Given the description of an element on the screen output the (x, y) to click on. 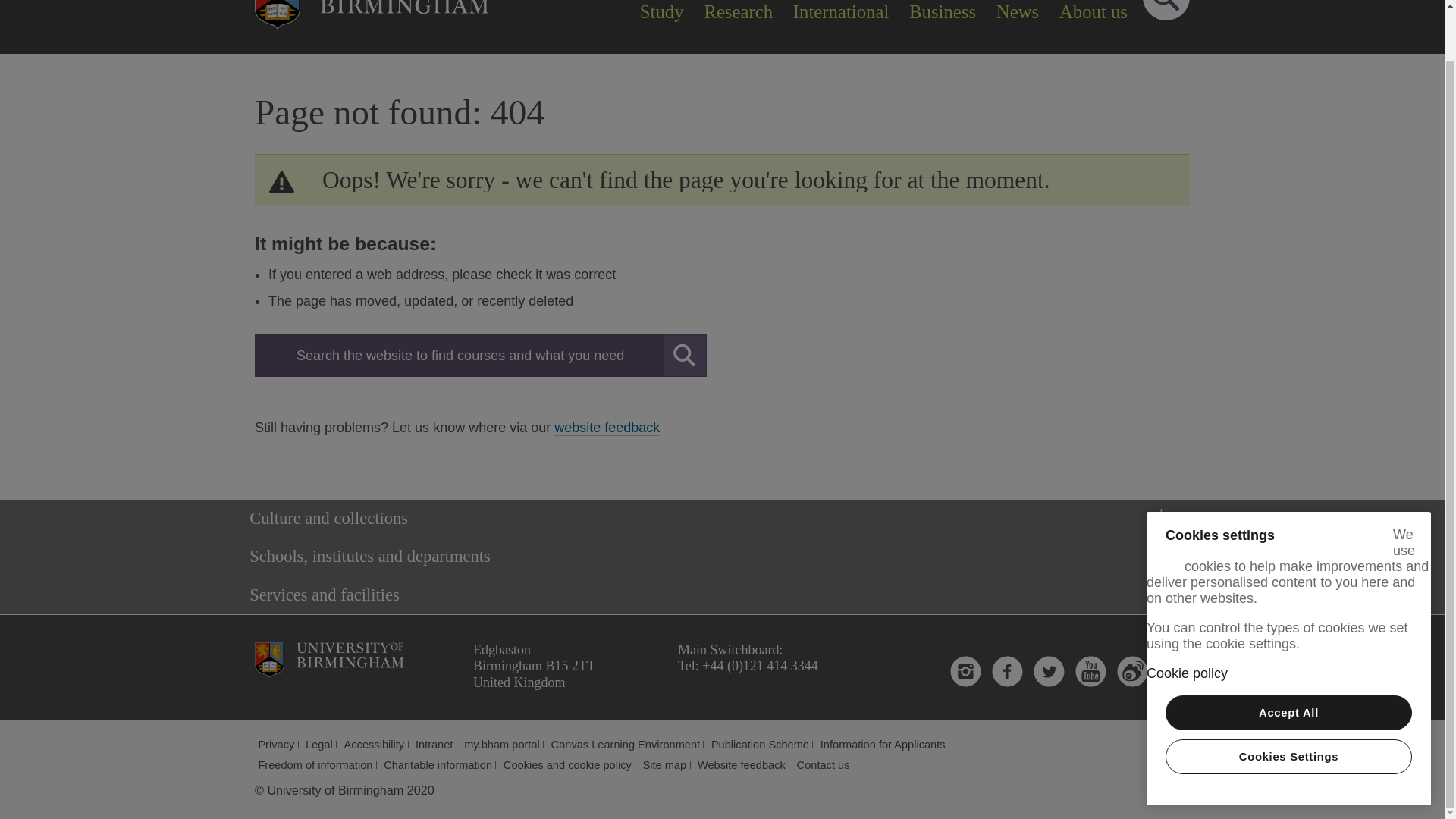
Charitable information (438, 765)
Canvas Learning Environment (625, 744)
Intranet (433, 744)
Search the website to find courses and what you need (480, 355)
Privacy (275, 744)
website feedback (606, 427)
About us (1093, 13)
Study (661, 13)
Search (1165, 10)
Culture and collections (716, 518)
